Given the description of an element on the screen output the (x, y) to click on. 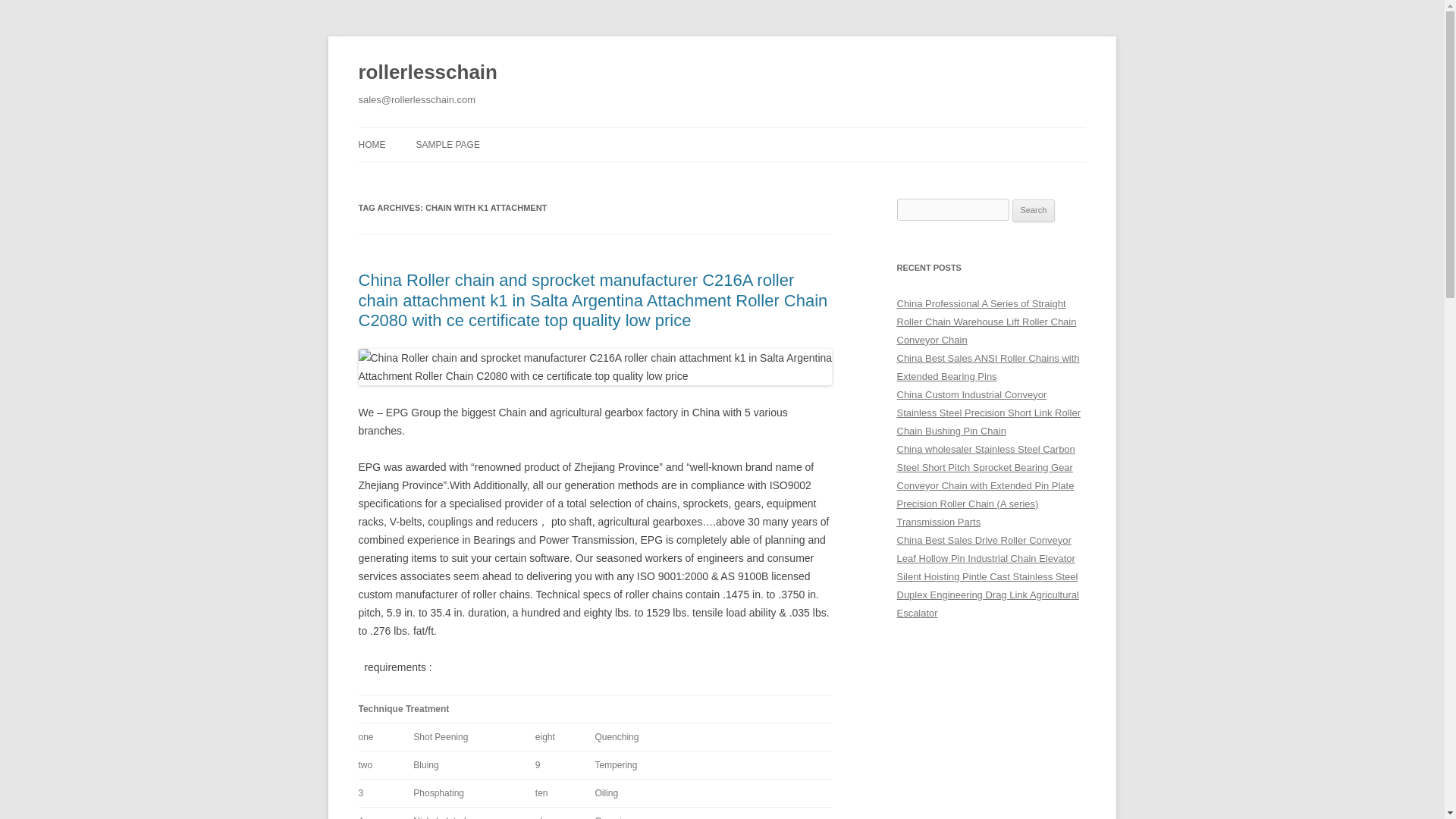
rollerlesschain (427, 72)
SAMPLE PAGE (446, 144)
rollerlesschain (427, 72)
Search (1033, 210)
